Given the description of an element on the screen output the (x, y) to click on. 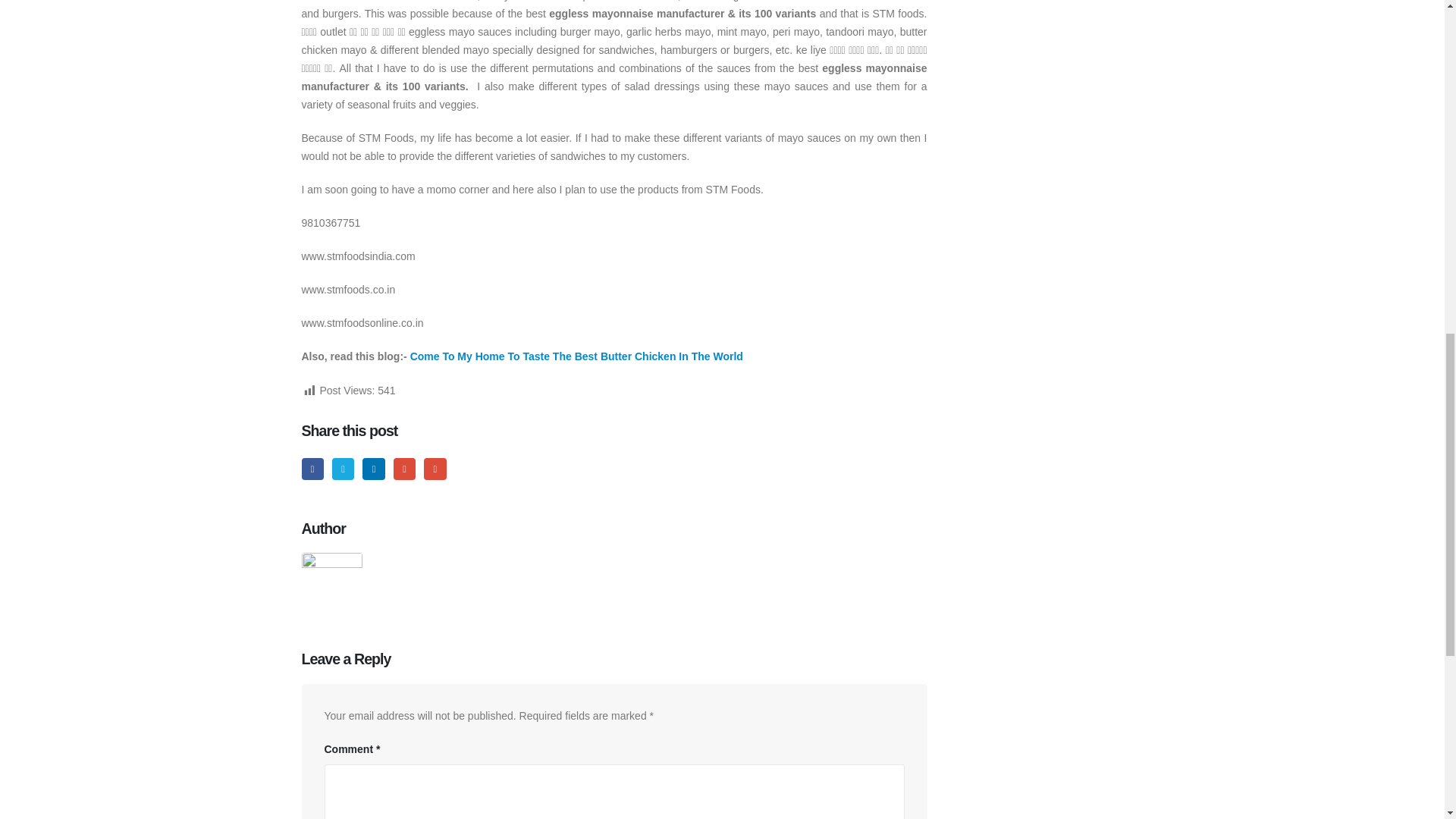
Twitter (342, 468)
Facebook (312, 468)
Email (434, 468)
Twitter (342, 468)
Email (434, 468)
LinkedIn (373, 468)
LinkedIn (373, 468)
Facebook (312, 468)
